Given the description of an element on the screen output the (x, y) to click on. 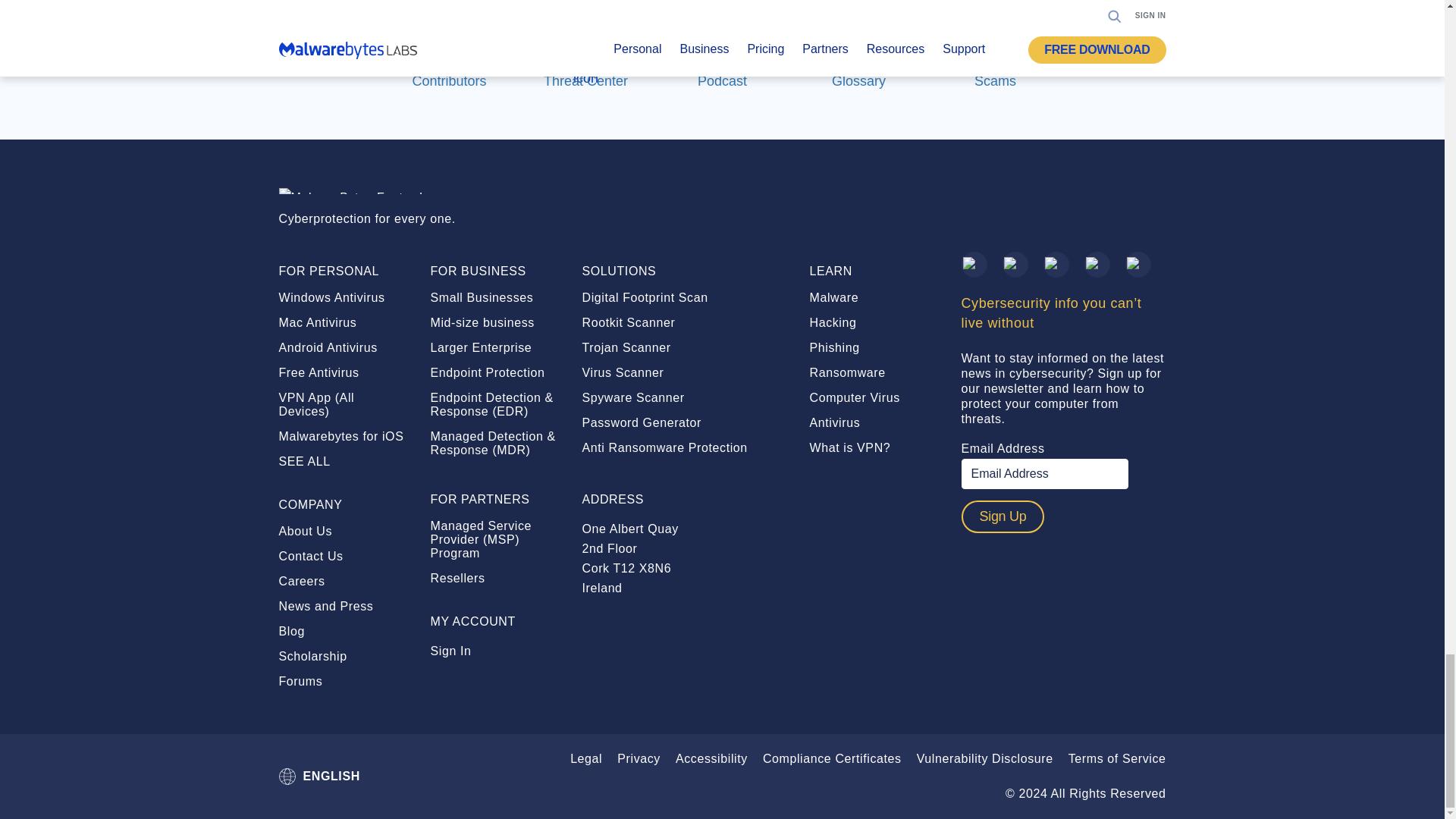
Sign Up (1002, 516)
